Given the description of an element on the screen output the (x, y) to click on. 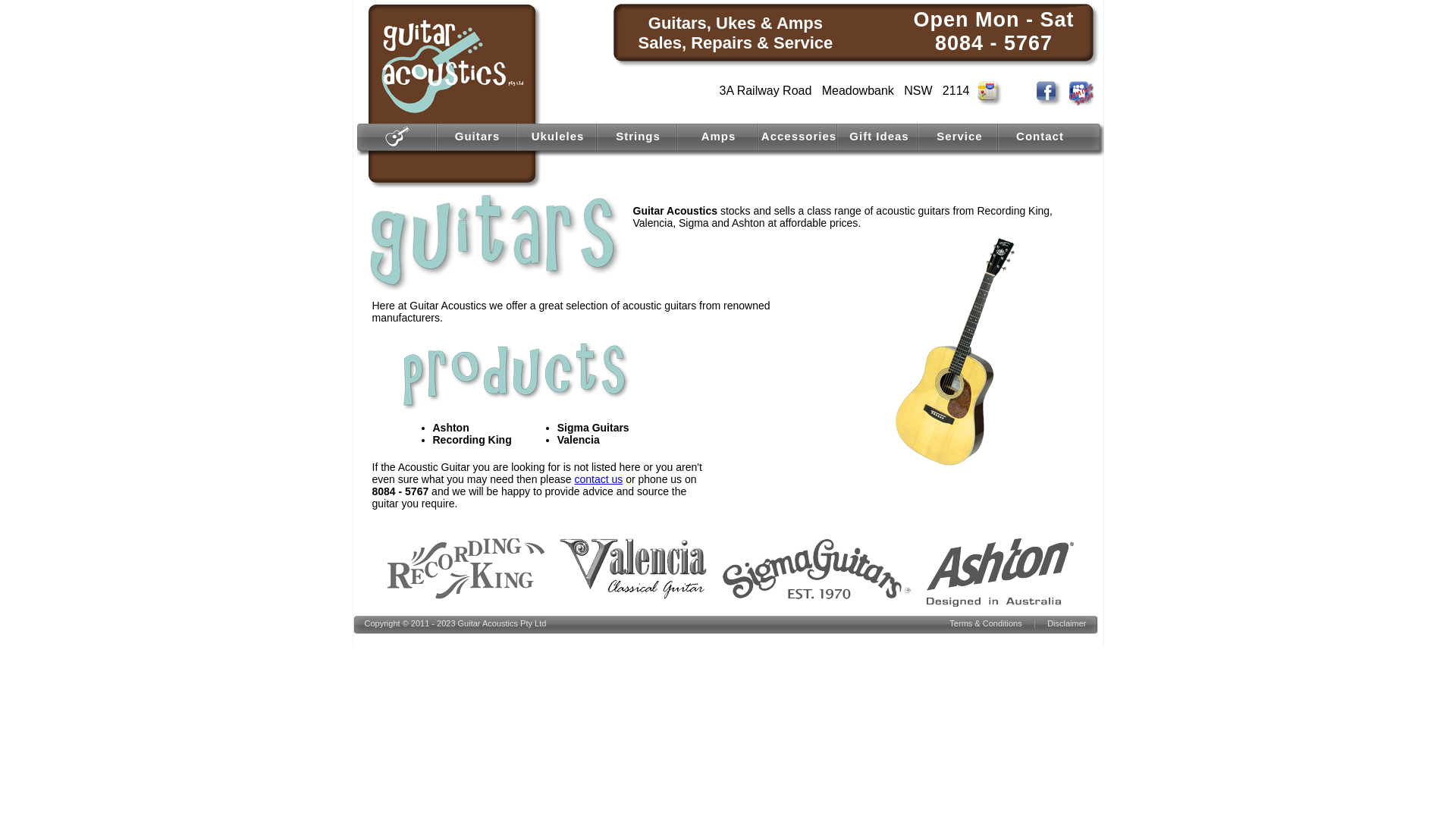
contact us Element type: text (598, 479)
Contact Element type: text (1039, 135)
Terms & Conditions Element type: text (985, 622)
rolex replica watches Element type: text (402, 161)
Disclaimer Element type: text (1066, 622)
Guitars Element type: text (477, 135)
Ukuleles Element type: text (557, 135)
Amps Element type: text (718, 135)
Strings Element type: text (637, 135)
Service Element type: text (959, 135)
Accessories Element type: text (798, 135)
Gift Ideas Element type: text (878, 135)
